Given the description of an element on the screen output the (x, y) to click on. 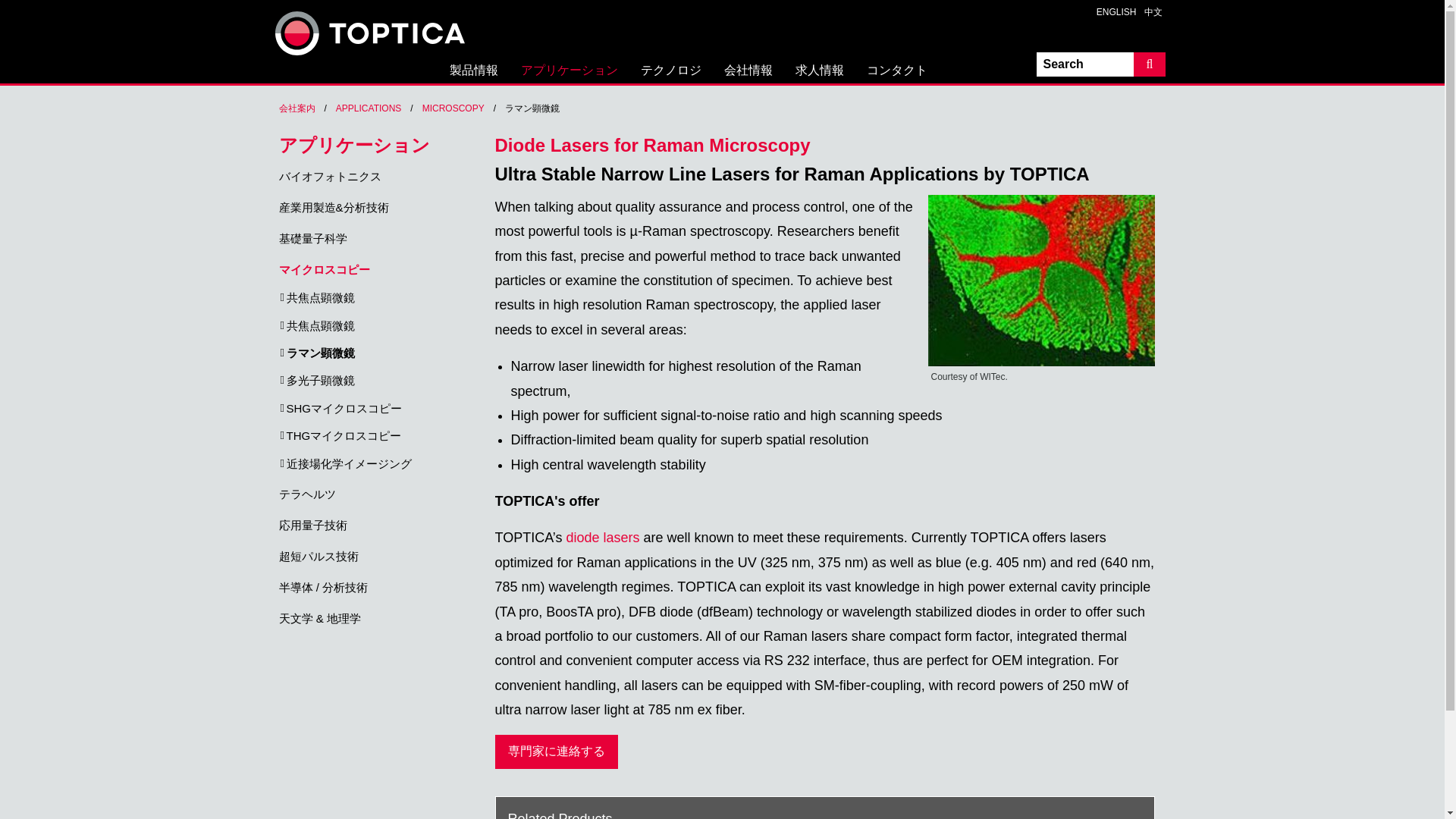
To English Website (1113, 12)
To Chinese Website (1148, 12)
Applications (368, 108)
Microscopy (453, 108)
ENGLISH (1113, 12)
Applications (568, 74)
